Given the description of an element on the screen output the (x, y) to click on. 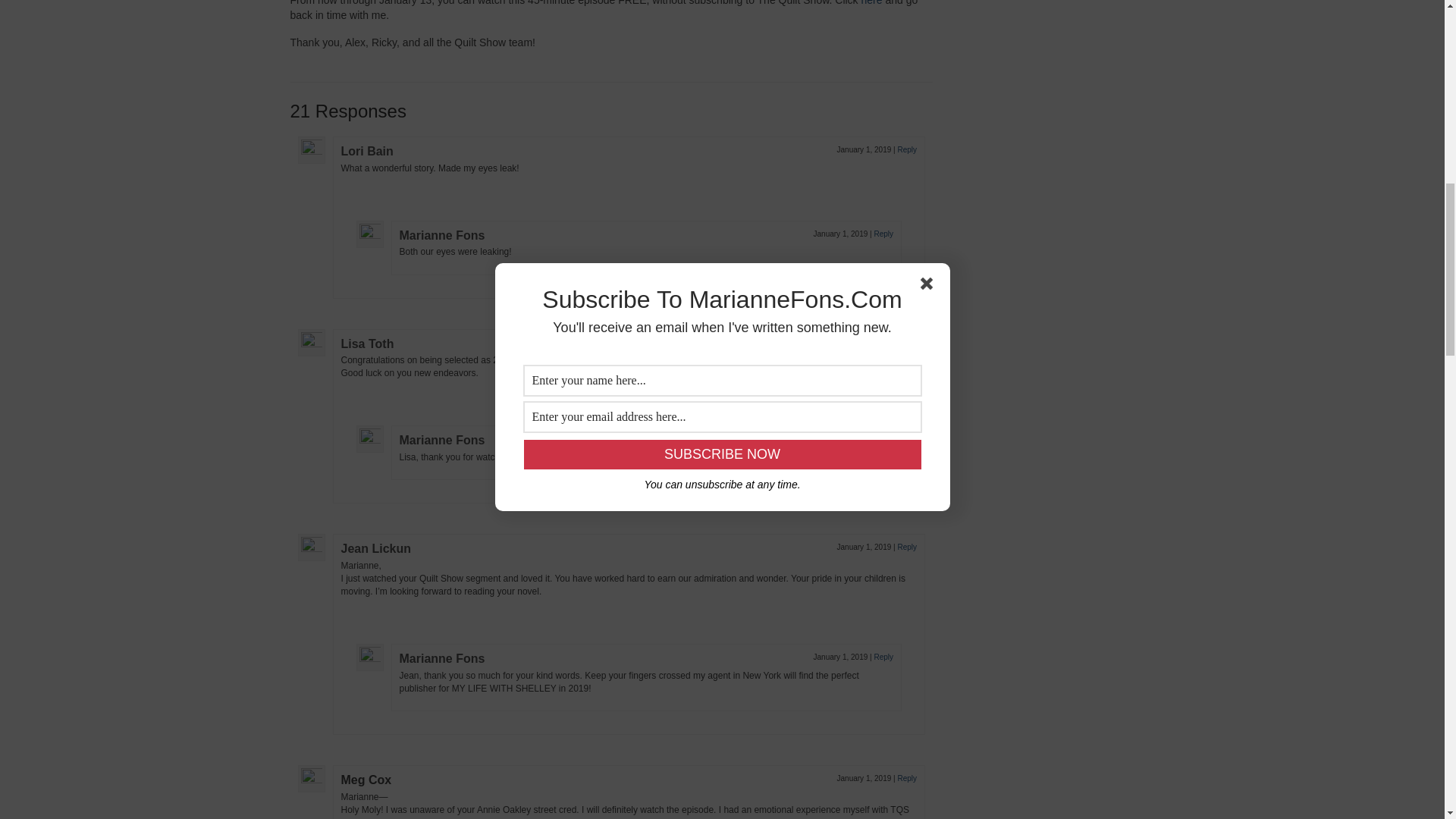
Reply (906, 777)
Reply (906, 546)
Reply (883, 438)
Reply (883, 656)
Reply (906, 342)
Reply (883, 234)
Reply (906, 149)
here (871, 2)
Meg Cox (365, 779)
